Given the description of an element on the screen output the (x, y) to click on. 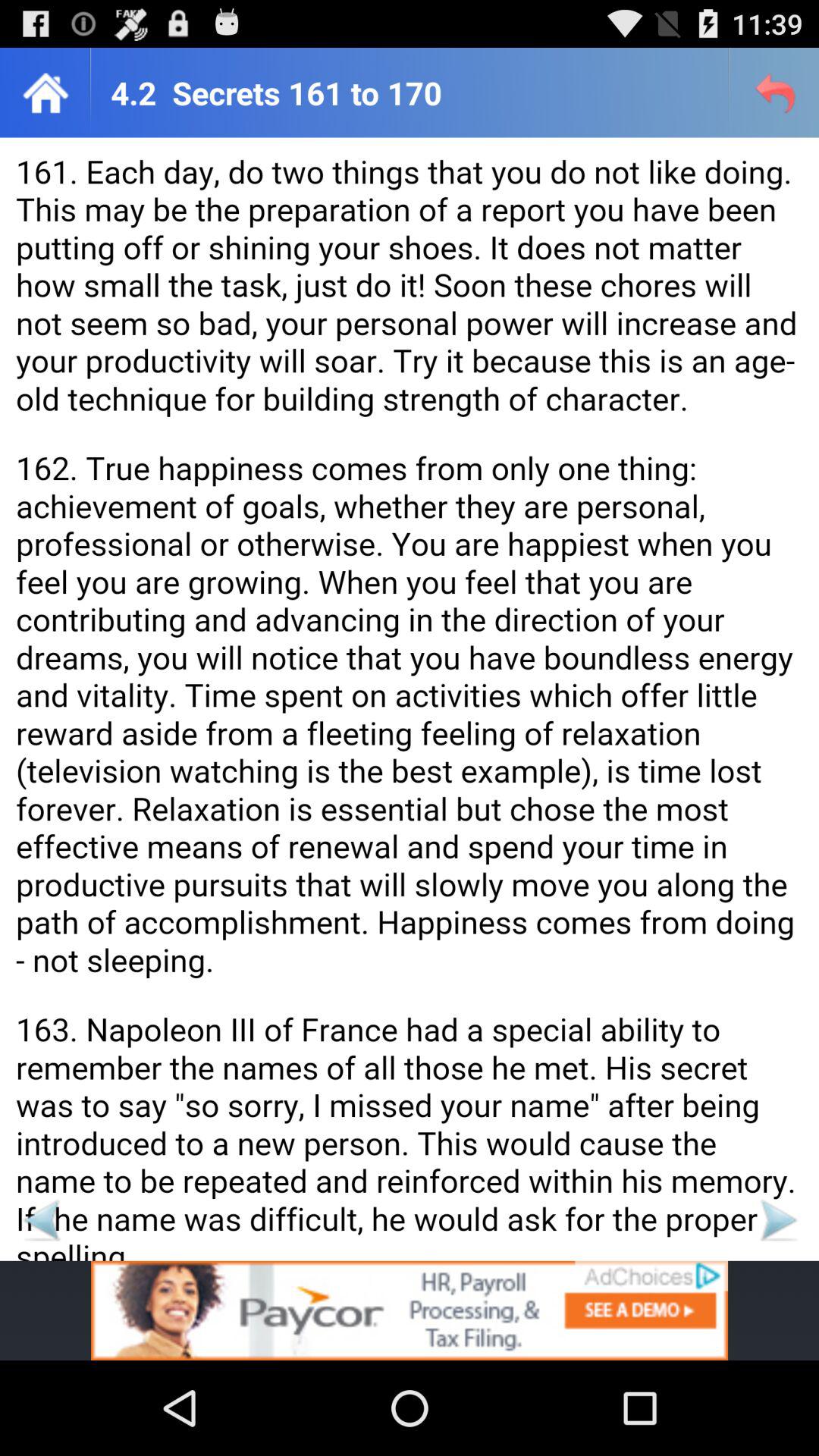
go to the next (777, 1219)
